Given the description of an element on the screen output the (x, y) to click on. 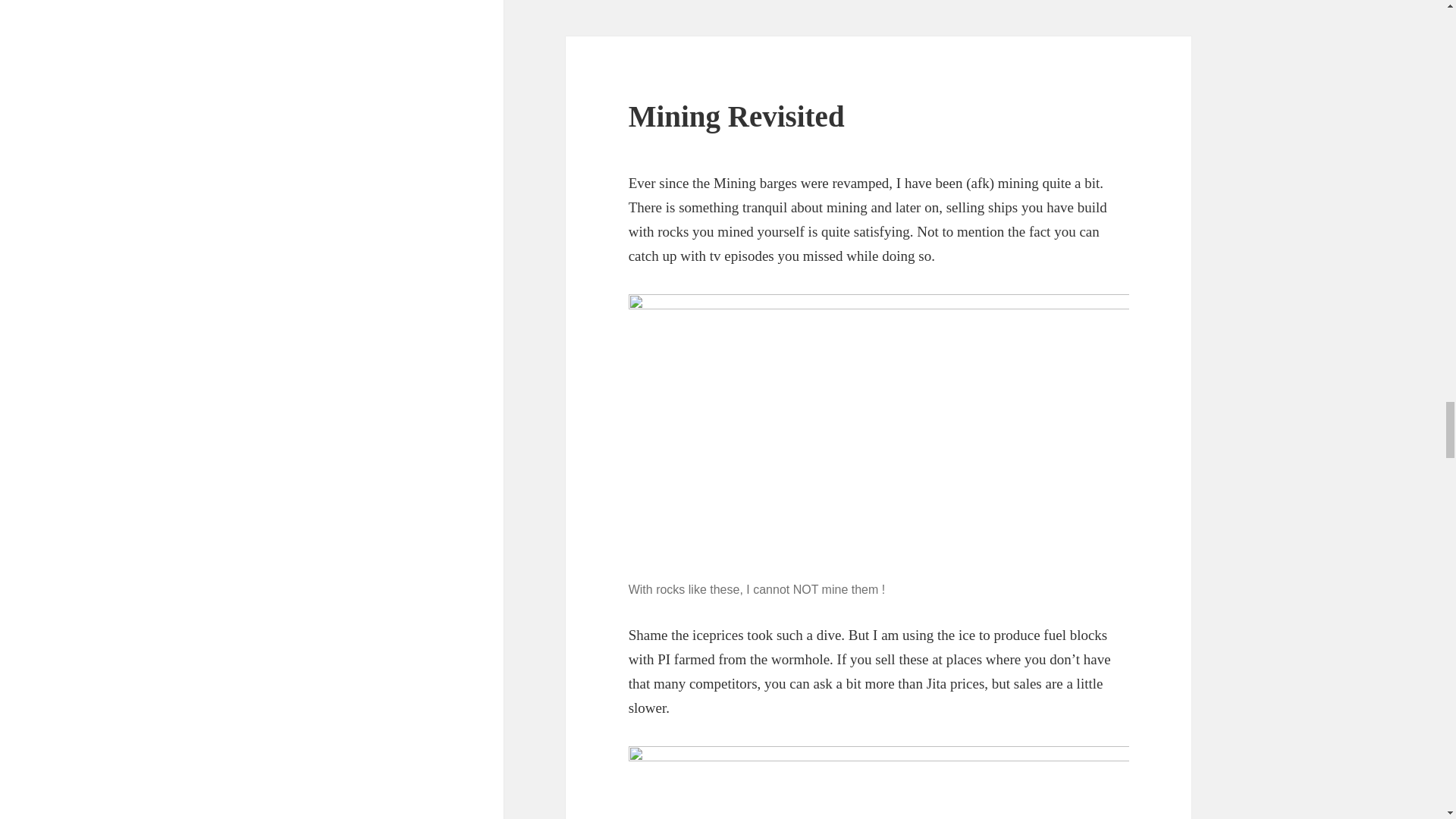
Mining Ice (878, 781)
